Given the description of an element on the screen output the (x, y) to click on. 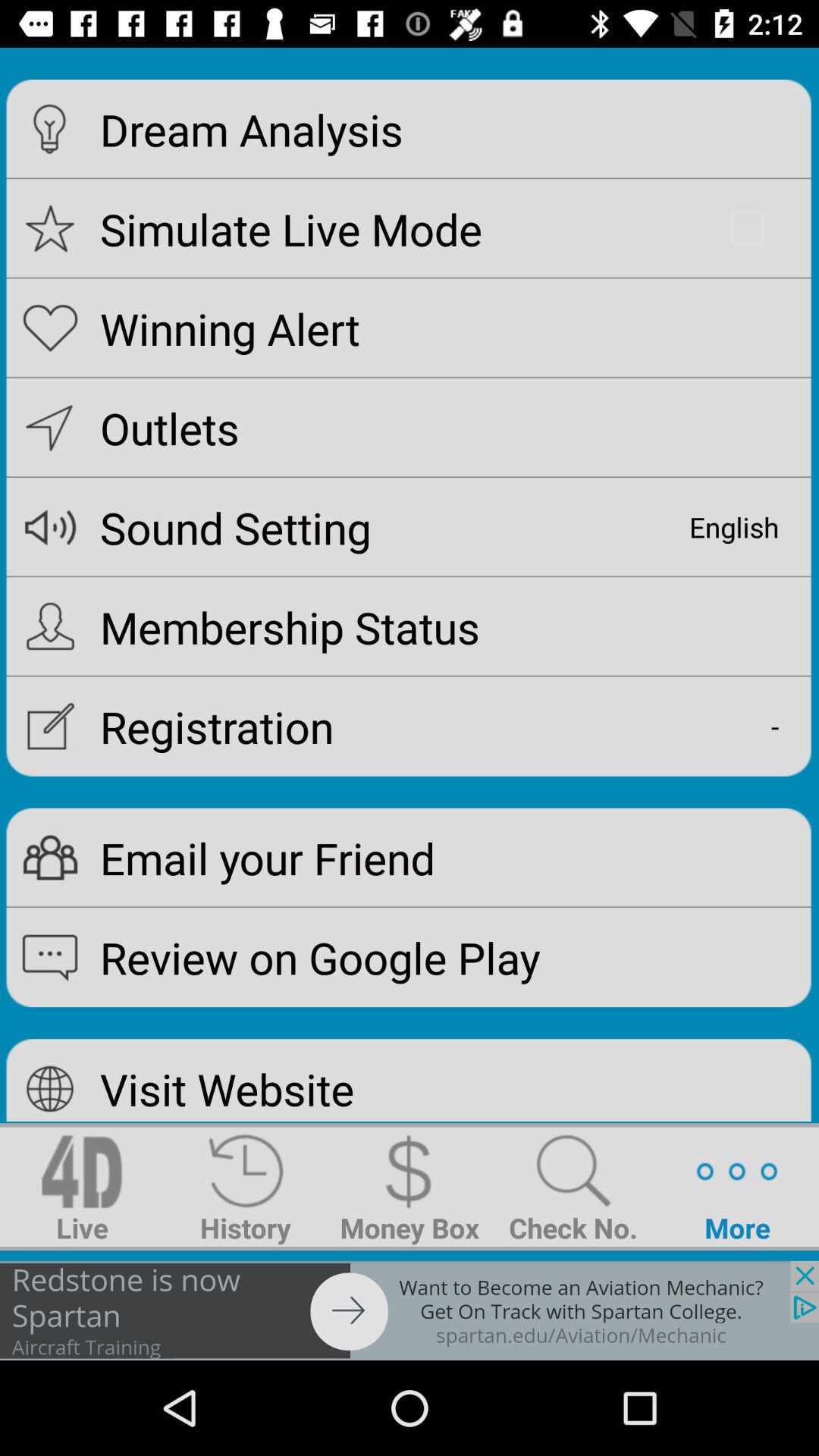
select for spartan (409, 1310)
